Given the description of an element on the screen output the (x, y) to click on. 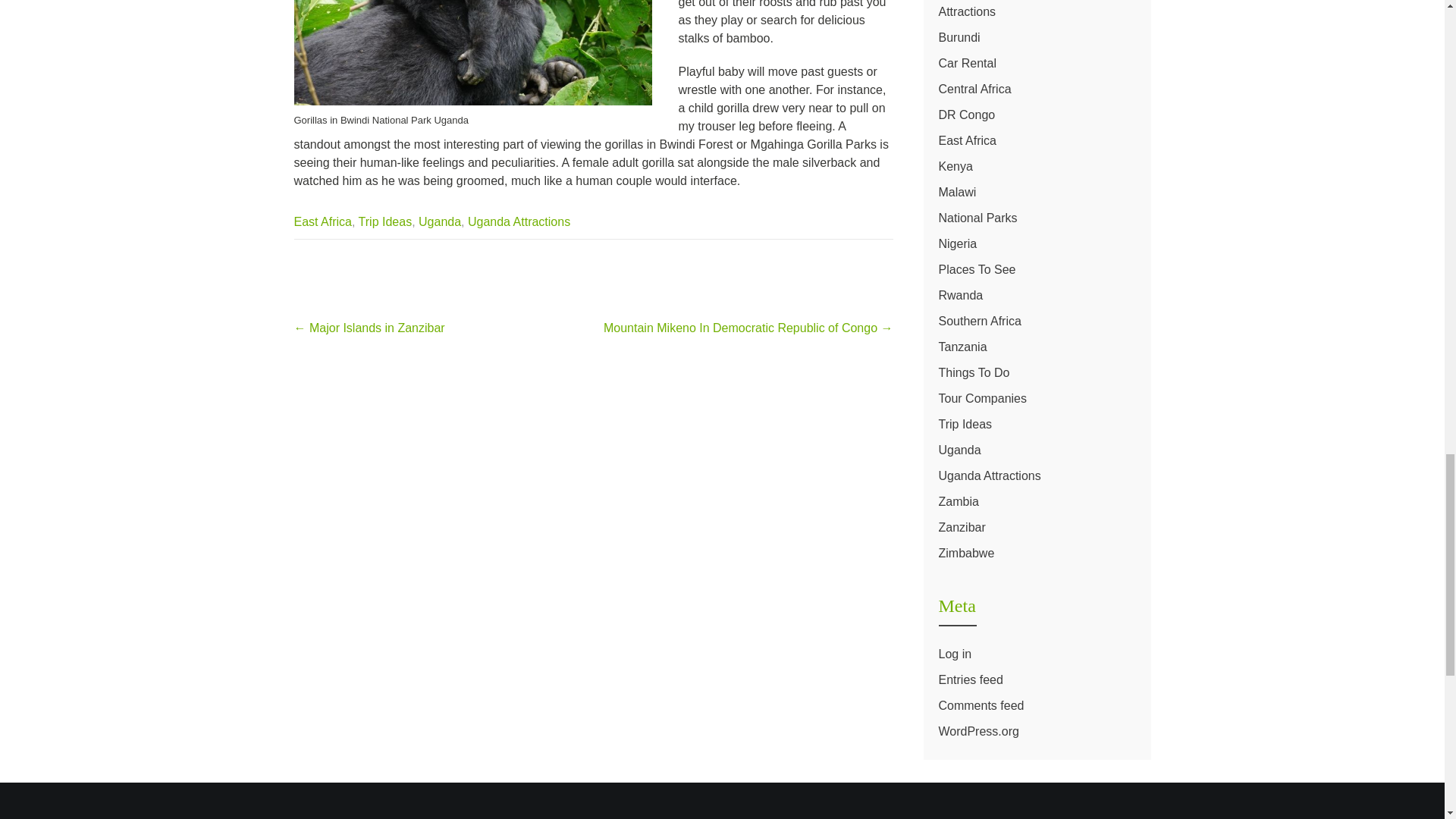
View all posts in East Africa (323, 221)
View all posts in Trip Ideas (385, 221)
View all posts in Uganda Attractions (518, 221)
View all posts in Uganda (440, 221)
